Given the description of an element on the screen output the (x, y) to click on. 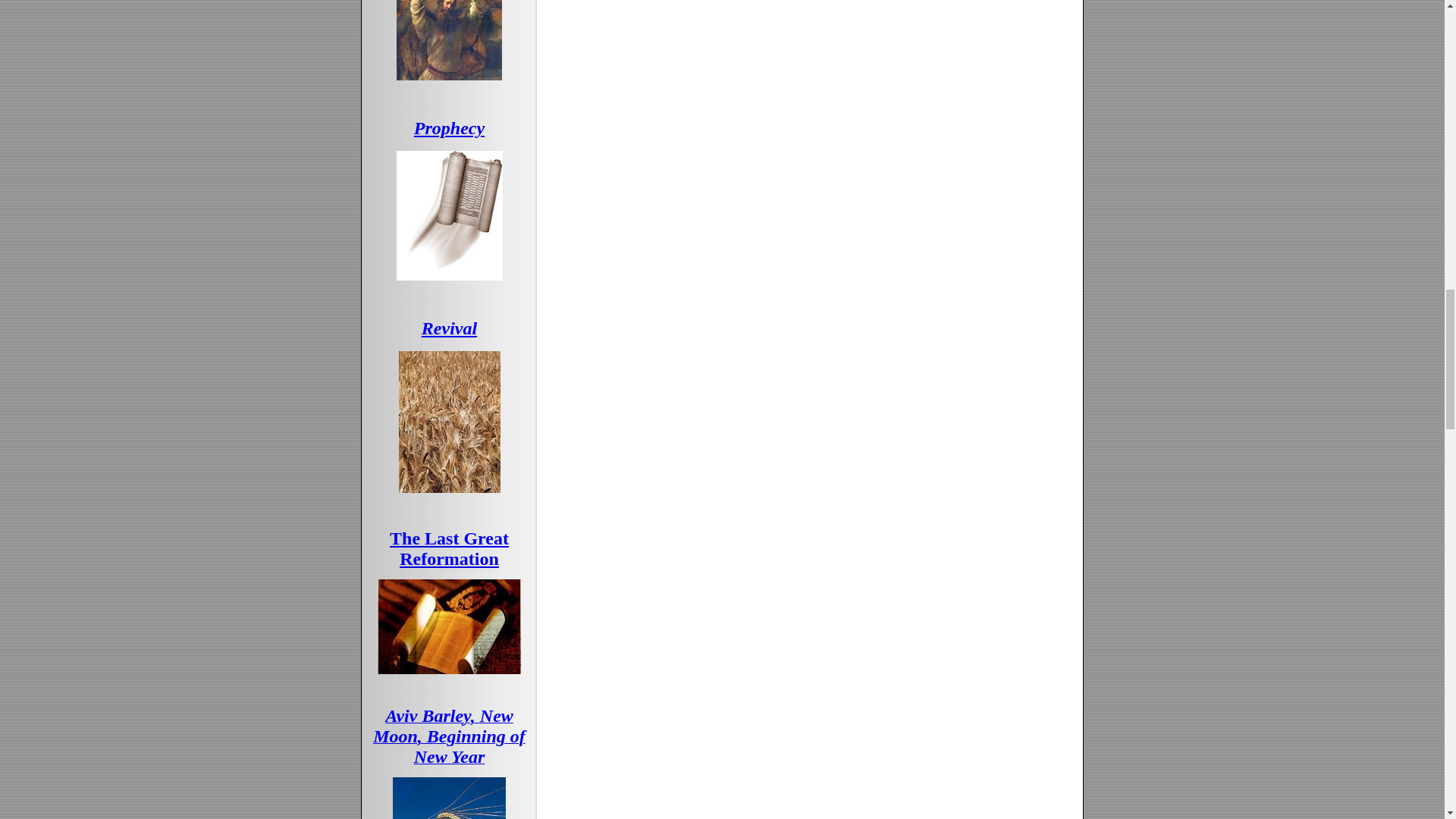
Revival (449, 328)
Prophecy (448, 127)
Aviv Barley, New Moon, Beginning of New Year (448, 738)
The Last Great Reformation (449, 548)
